Given the description of an element on the screen output the (x, y) to click on. 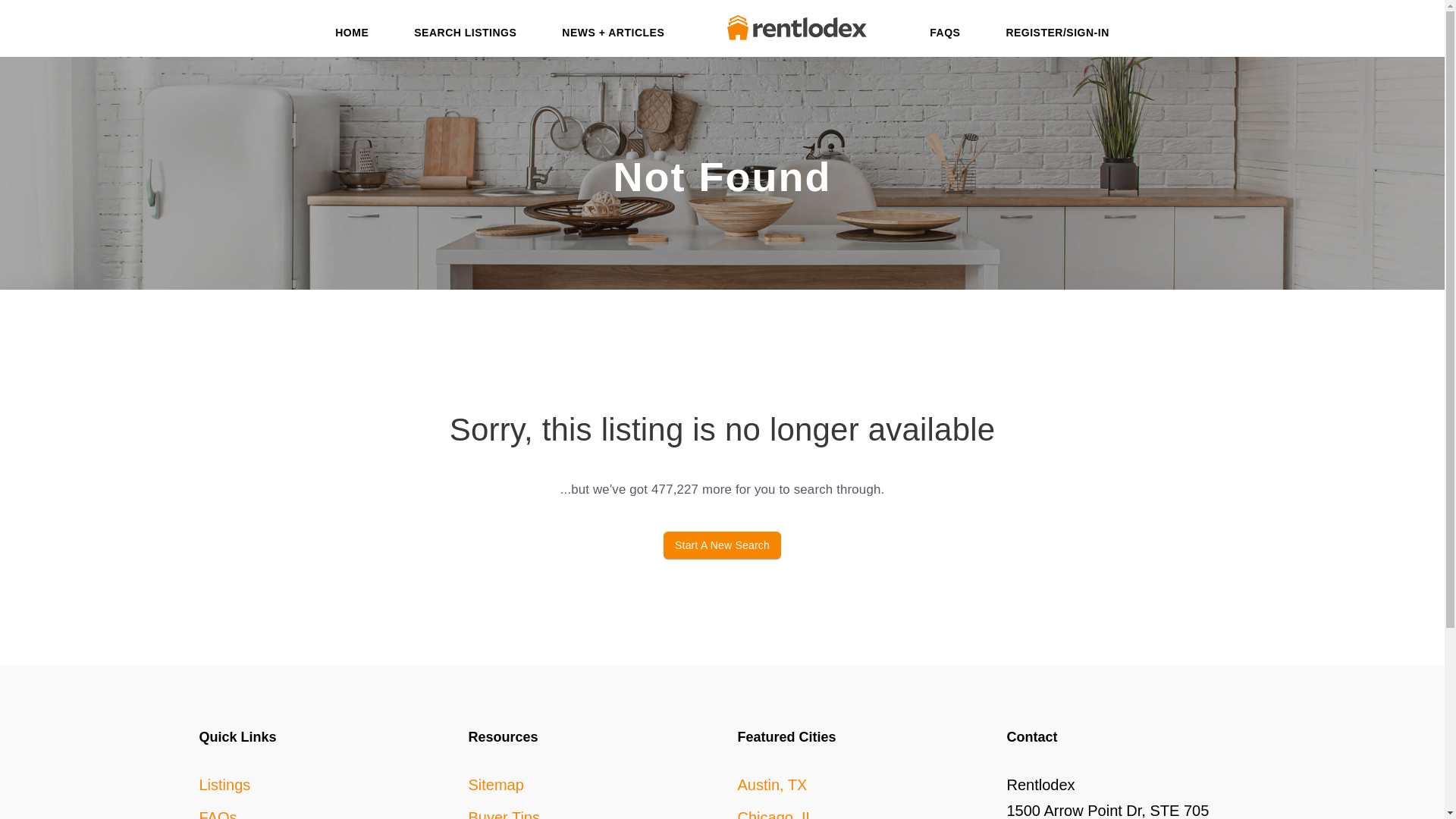
Listings (224, 784)
Chicago, IL (774, 814)
logo-color-png (797, 27)
FAQs (216, 814)
Austin, TX (771, 784)
SEARCH LISTINGS (464, 34)
Sitemap (496, 784)
Start A New Search (721, 544)
Buyer Tips (504, 814)
